Given the description of an element on the screen output the (x, y) to click on. 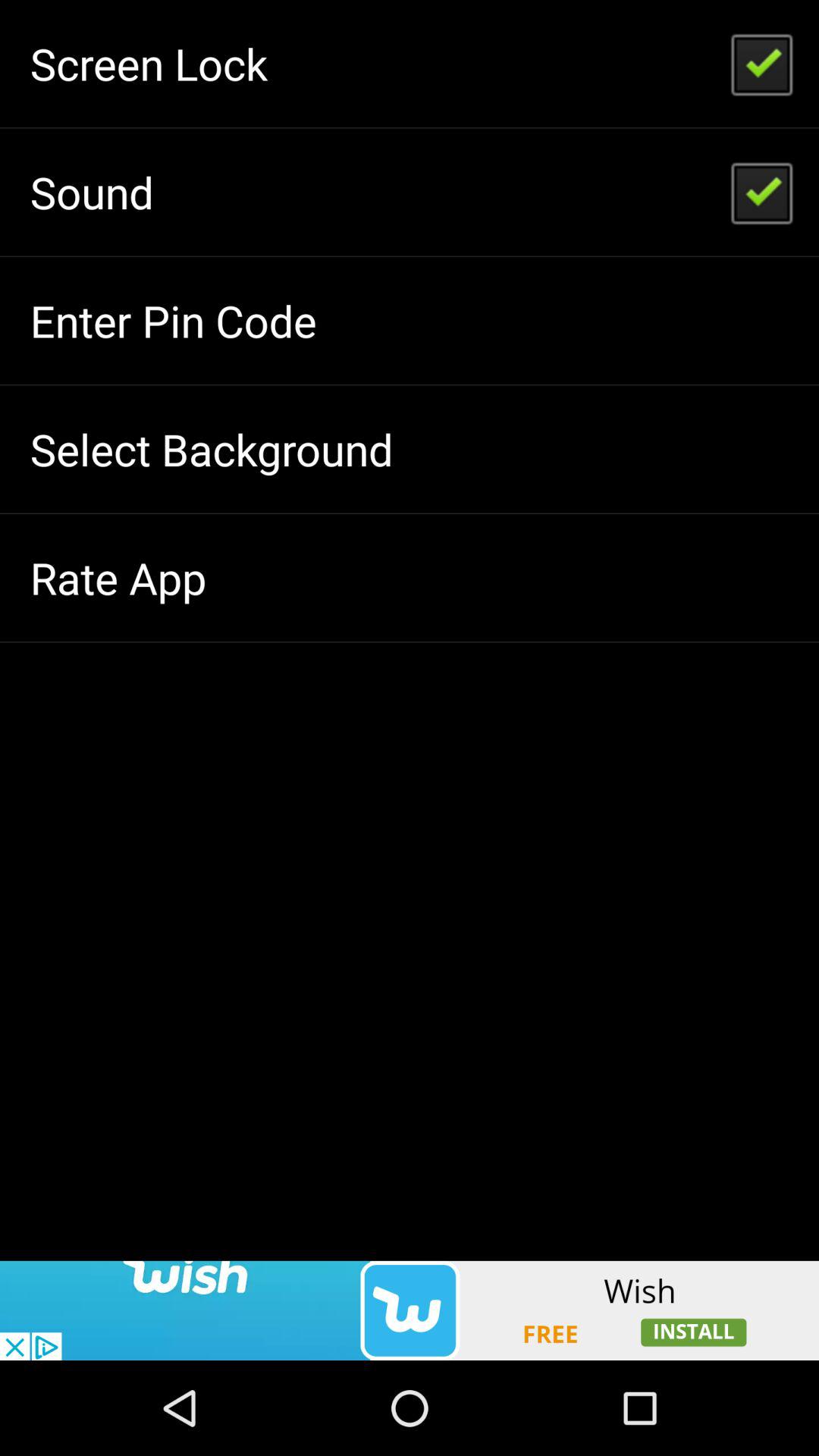
open advertisement (409, 1310)
